Given the description of an element on the screen output the (x, y) to click on. 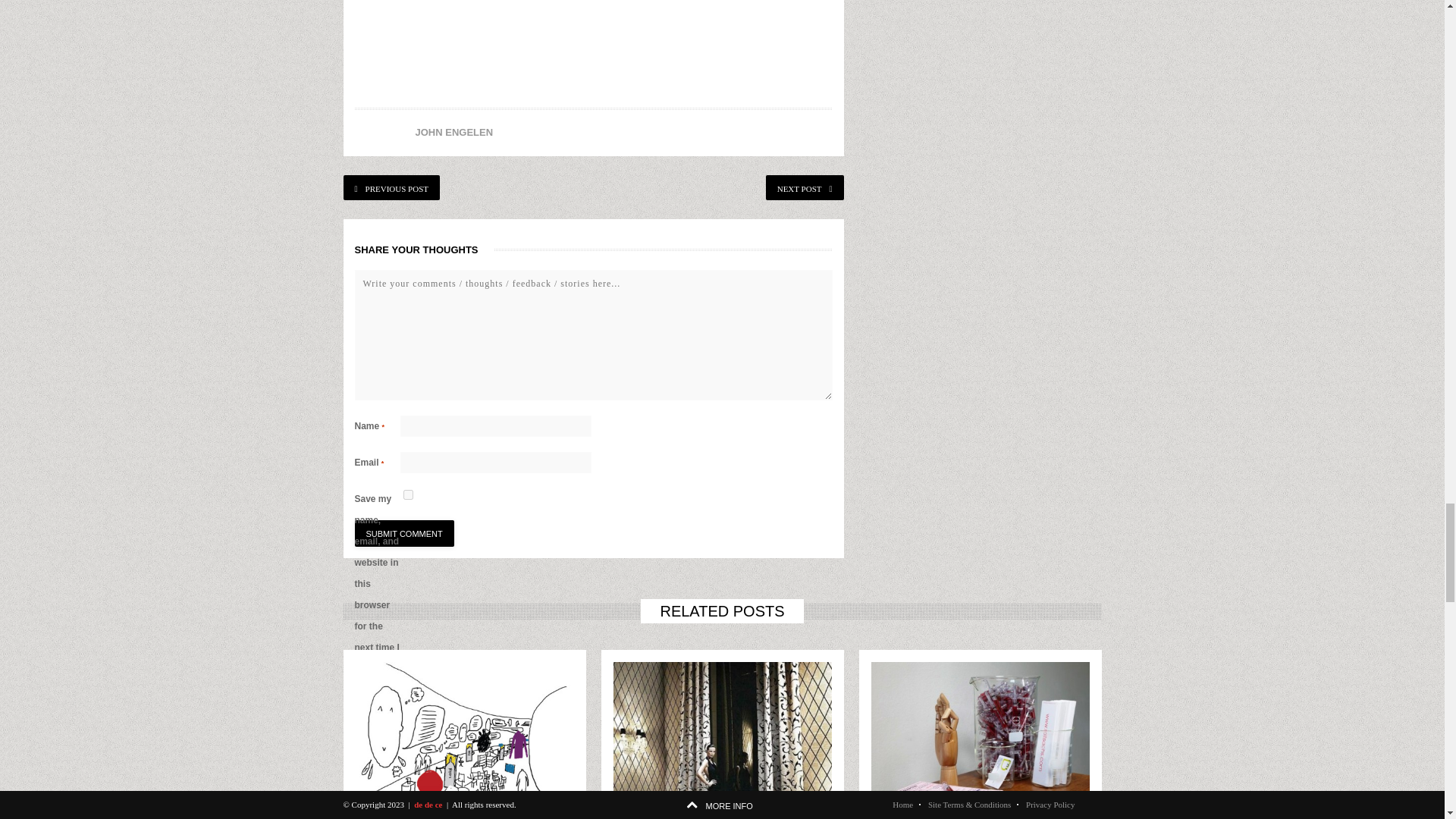
yes (408, 494)
Submit Comment (404, 533)
